Given the description of an element on the screen output the (x, y) to click on. 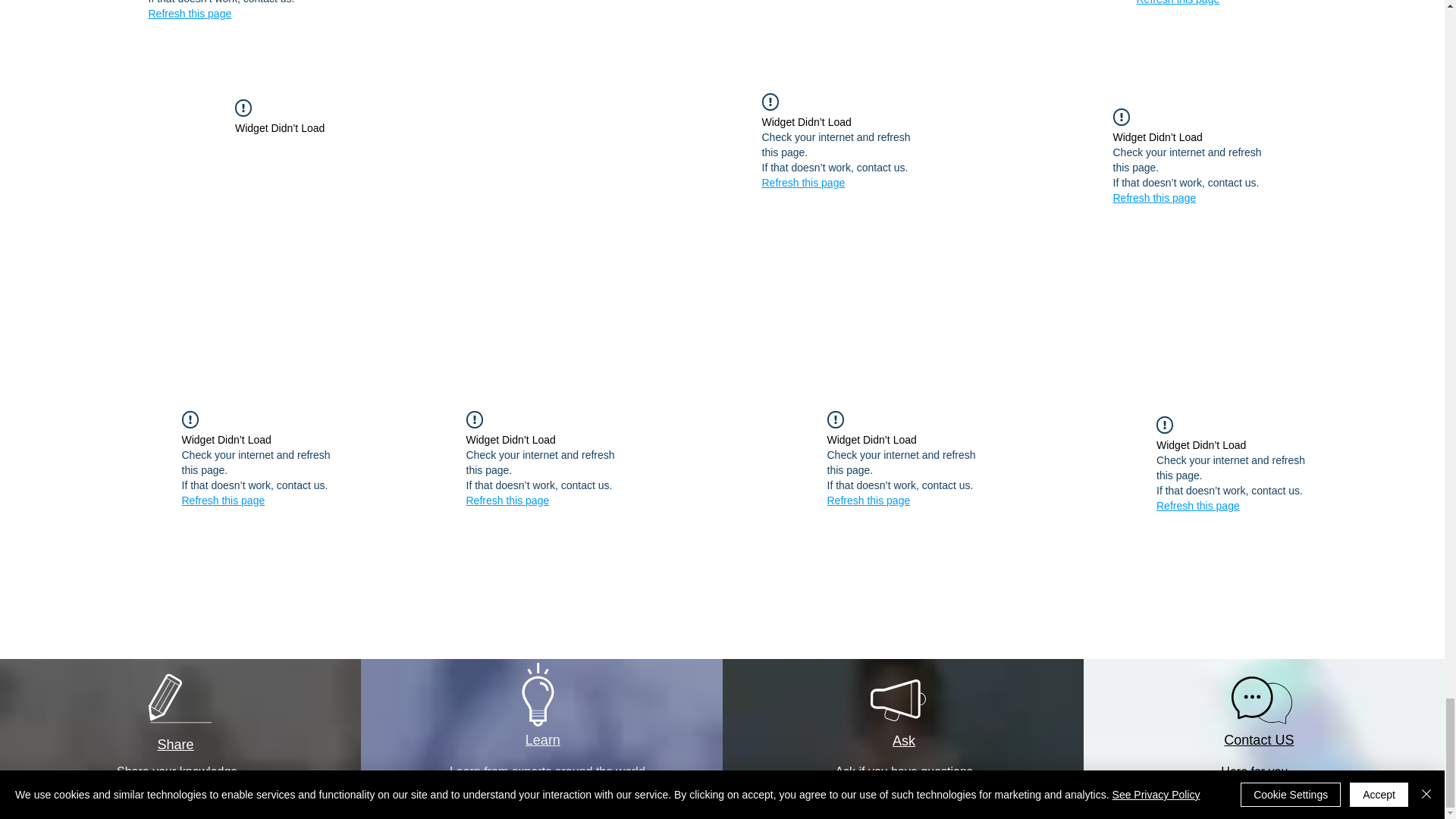
Refresh this page (802, 182)
